Given the description of an element on the screen output the (x, y) to click on. 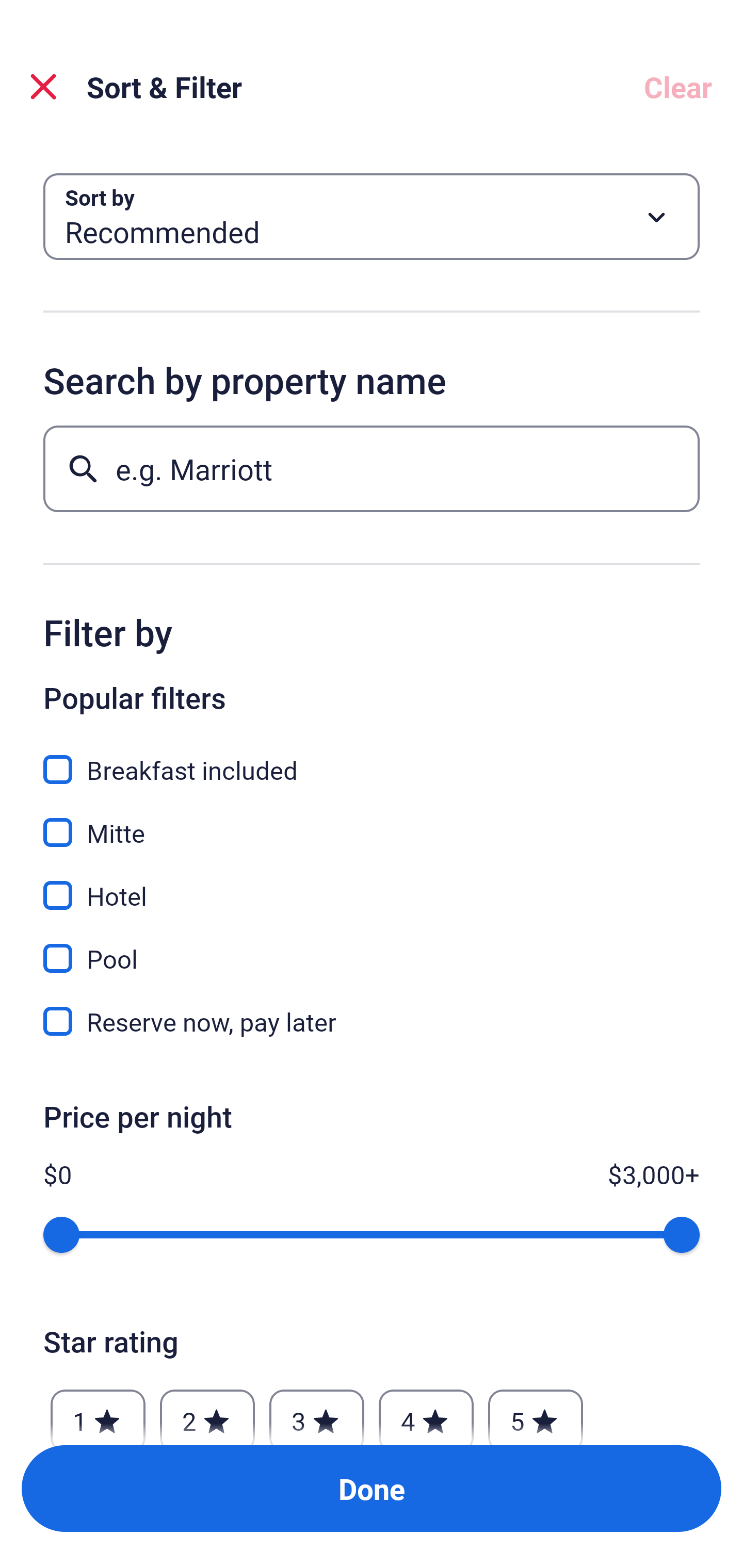
Close Sort and Filter (43, 86)
Clear (677, 86)
Sort by Button Recommended (371, 217)
e.g. Marriott Button (371, 468)
Breakfast included, Breakfast included (371, 757)
Mitte, Mitte (371, 821)
Hotel, Hotel (371, 883)
Pool, Pool (371, 946)
Reserve now, pay later, Reserve now, pay later (371, 1021)
1 (97, 1411)
2 (206, 1411)
3 (316, 1411)
4 (426, 1411)
5 (535, 1411)
Apply and close Sort and Filter Done (371, 1488)
